Given the description of an element on the screen output the (x, y) to click on. 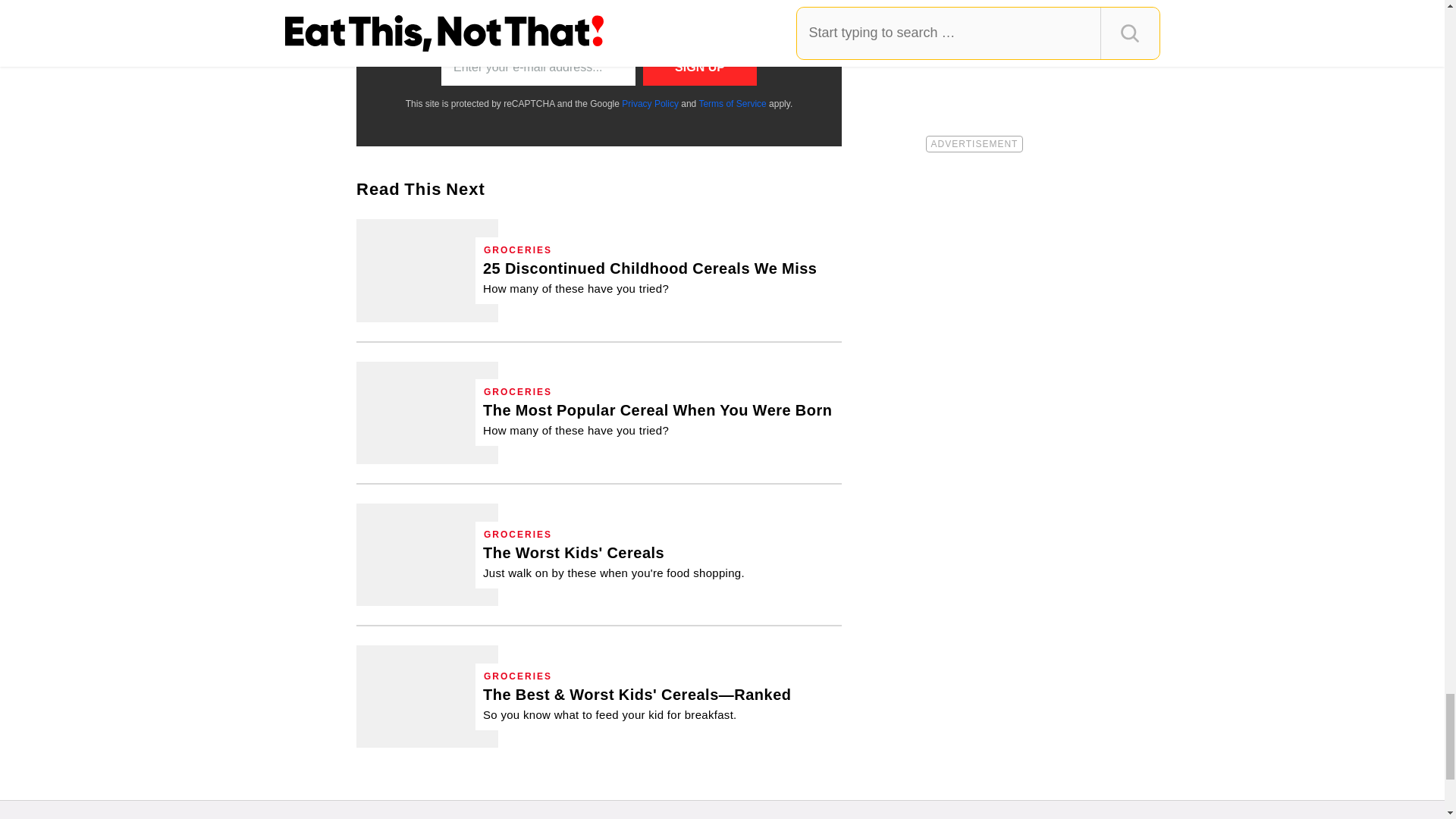
25 Discontinued Cereals That Deserve a Comeback (426, 270)
The Most Popular Cereal the Year You Were Born (426, 412)
14 Kids' Cereals You Always Leave on Grocery Store Shelves (613, 561)
25 Discontinued Cereals That Deserve a Comeback (649, 277)
The Most Popular Cereal the Year You Were Born (657, 419)
14 Kids' Cereals You Always Leave on Grocery Store Shelves (426, 554)
